Given the description of an element on the screen output the (x, y) to click on. 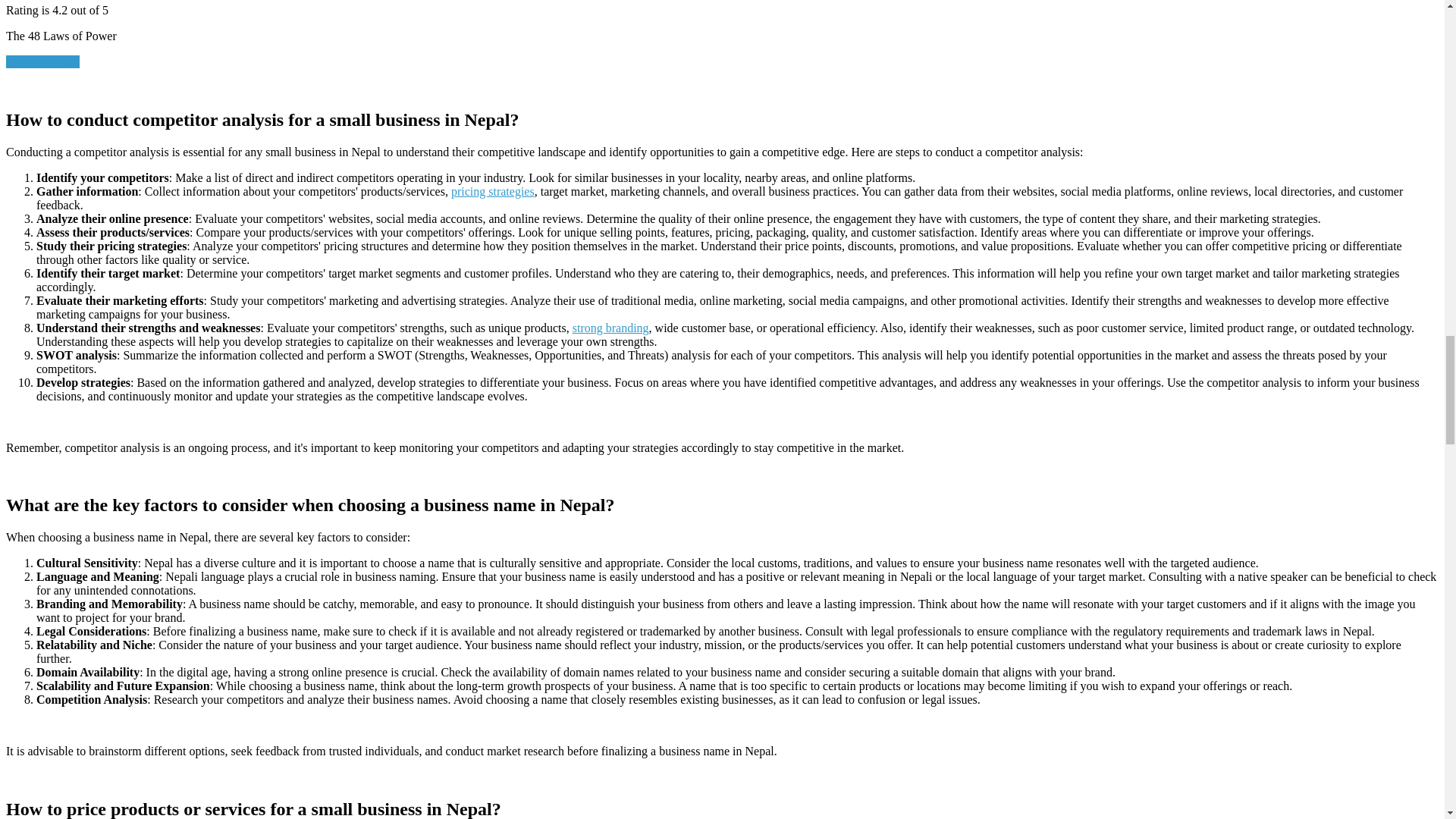
Get Book Now (42, 61)
strong branding (610, 327)
pricing strategies (492, 191)
